Given the description of an element on the screen output the (x, y) to click on. 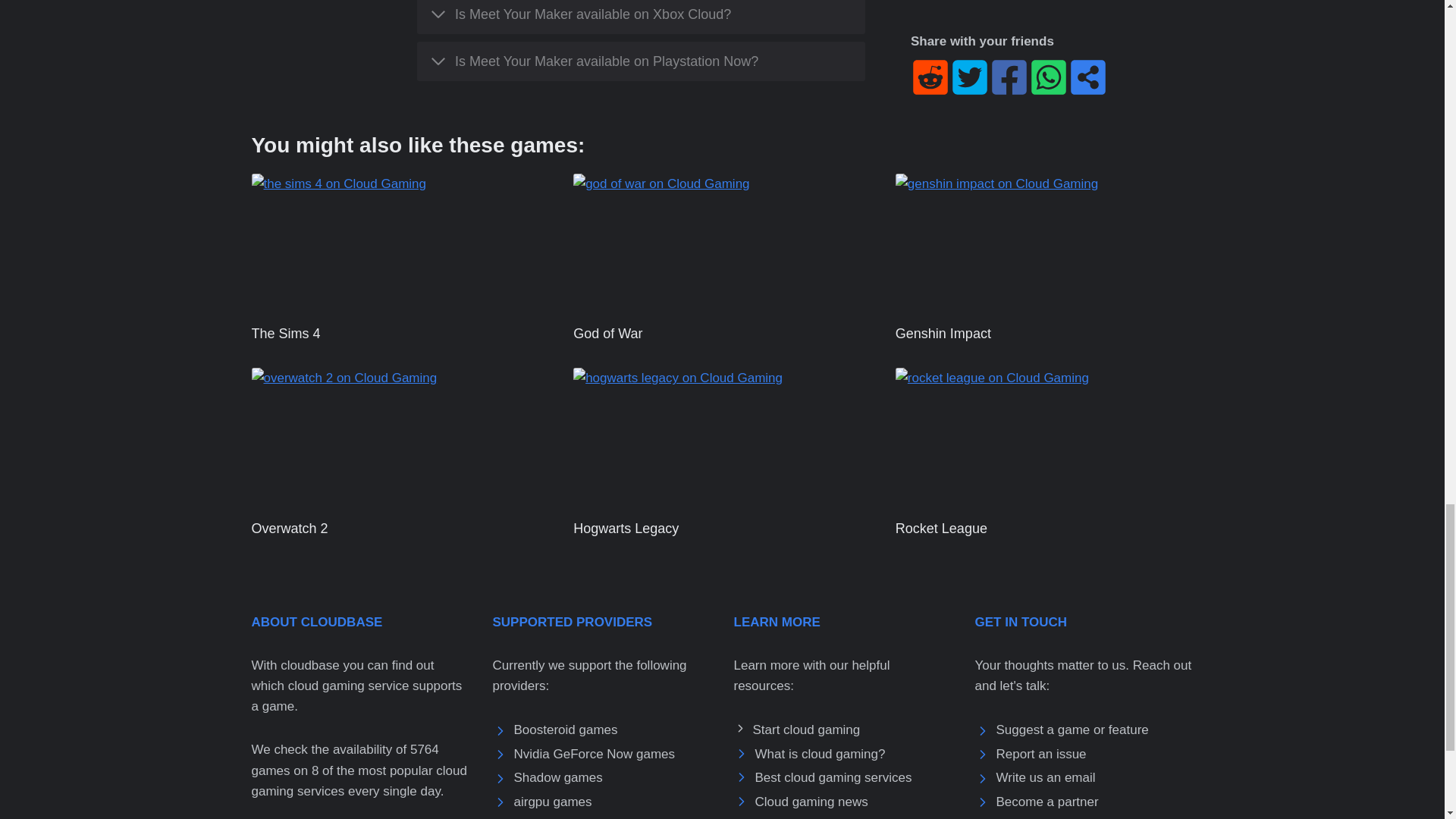
The Sims 4 3 (400, 242)
God of War 4 (721, 242)
Overwatch 2 6 (400, 436)
Rocket League 8 (1044, 436)
Genshin Impact 5 (1044, 242)
Hogwarts Legacy 7 (721, 436)
